Given the description of an element on the screen output the (x, y) to click on. 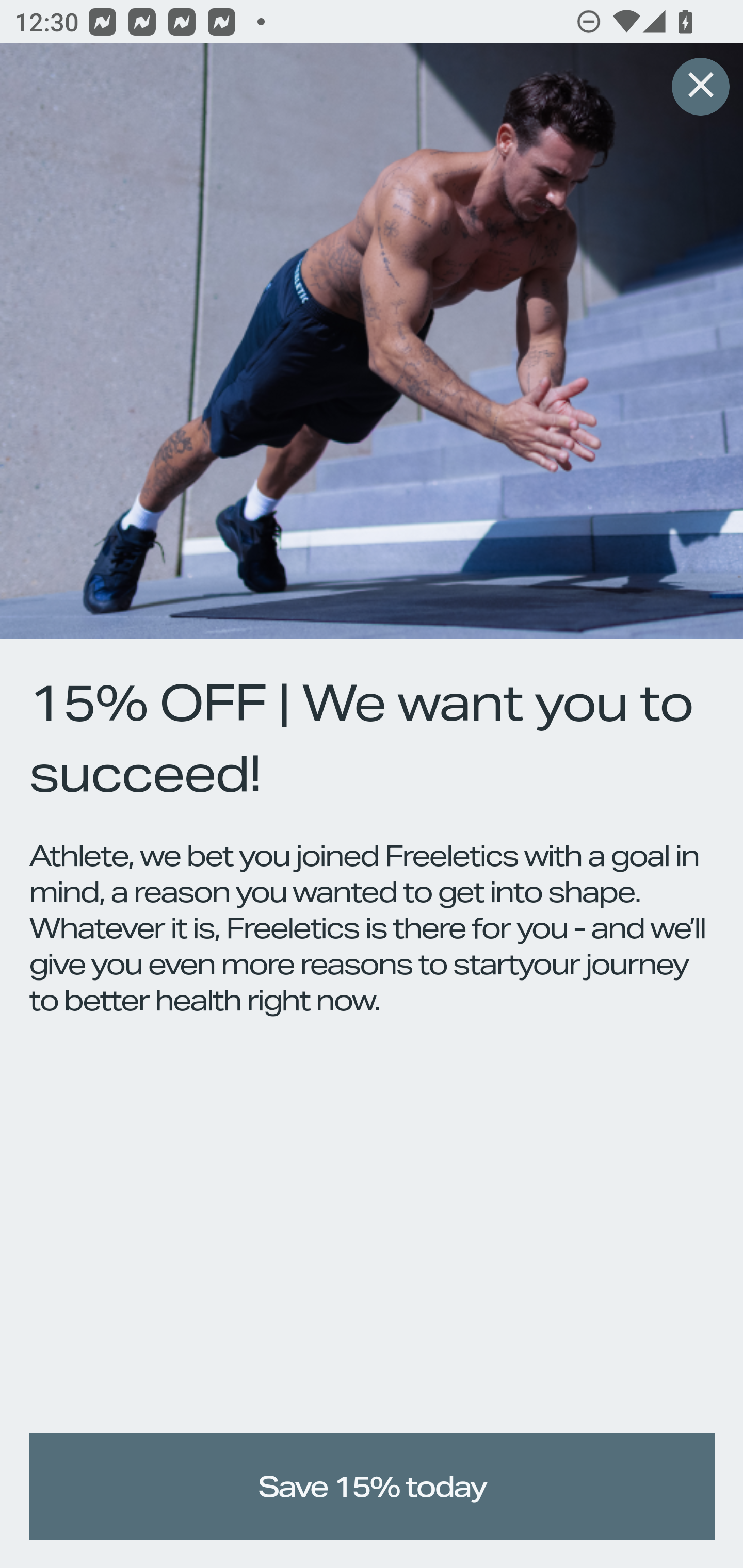
# 315627333 (700, 87)
Save 15% today (372, 1486)
